Given the description of an element on the screen output the (x, y) to click on. 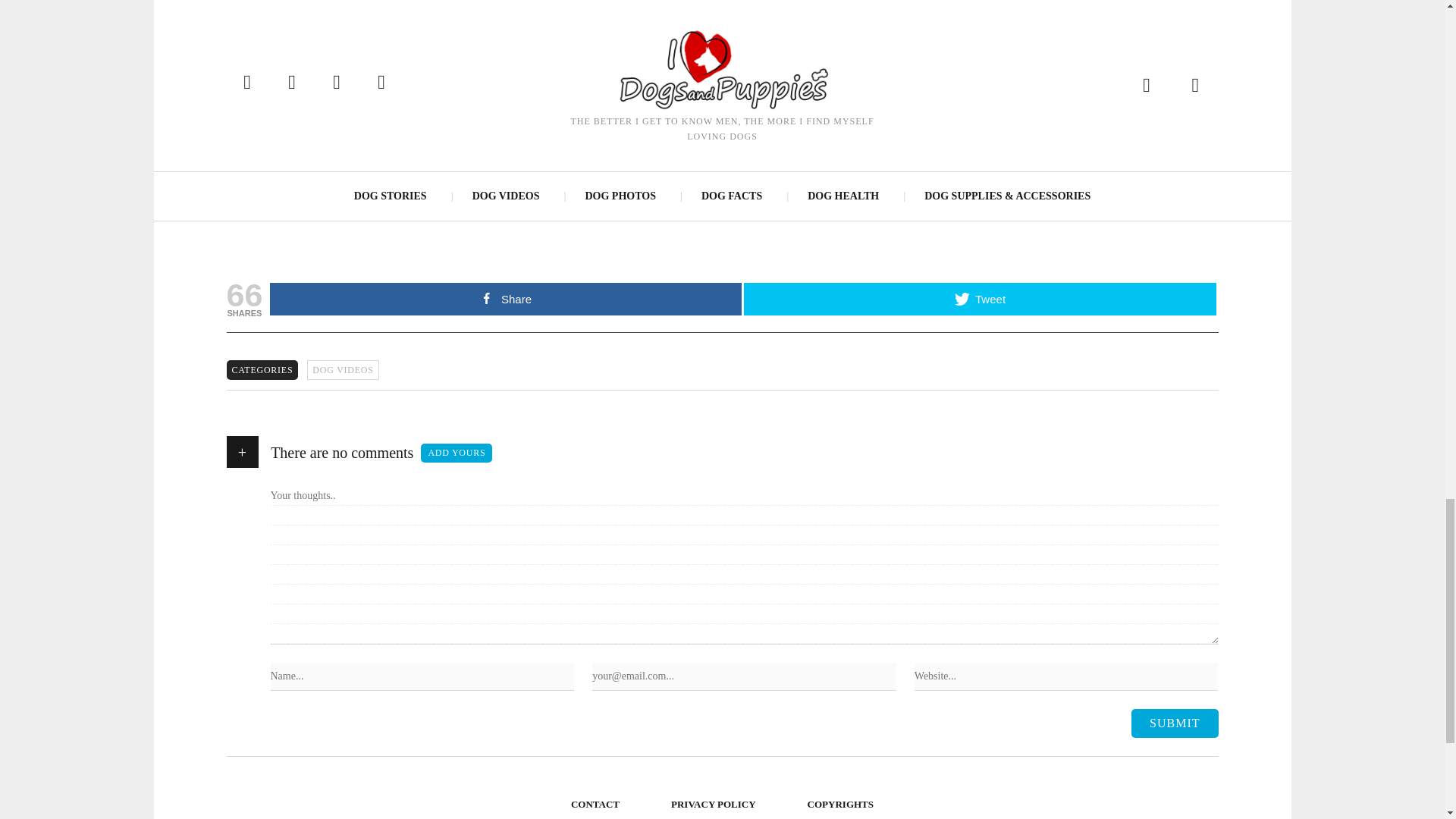
Submit (1174, 723)
PRIVACY POLICY (714, 804)
View all posts in Dog Videos (342, 370)
Submit (1174, 723)
ADD YOURS (456, 453)
Share (505, 298)
DOG VIDEOS (342, 370)
Tweet (979, 298)
COPYRIGHTS (839, 804)
CONTACT (595, 804)
